Given the description of an element on the screen output the (x, y) to click on. 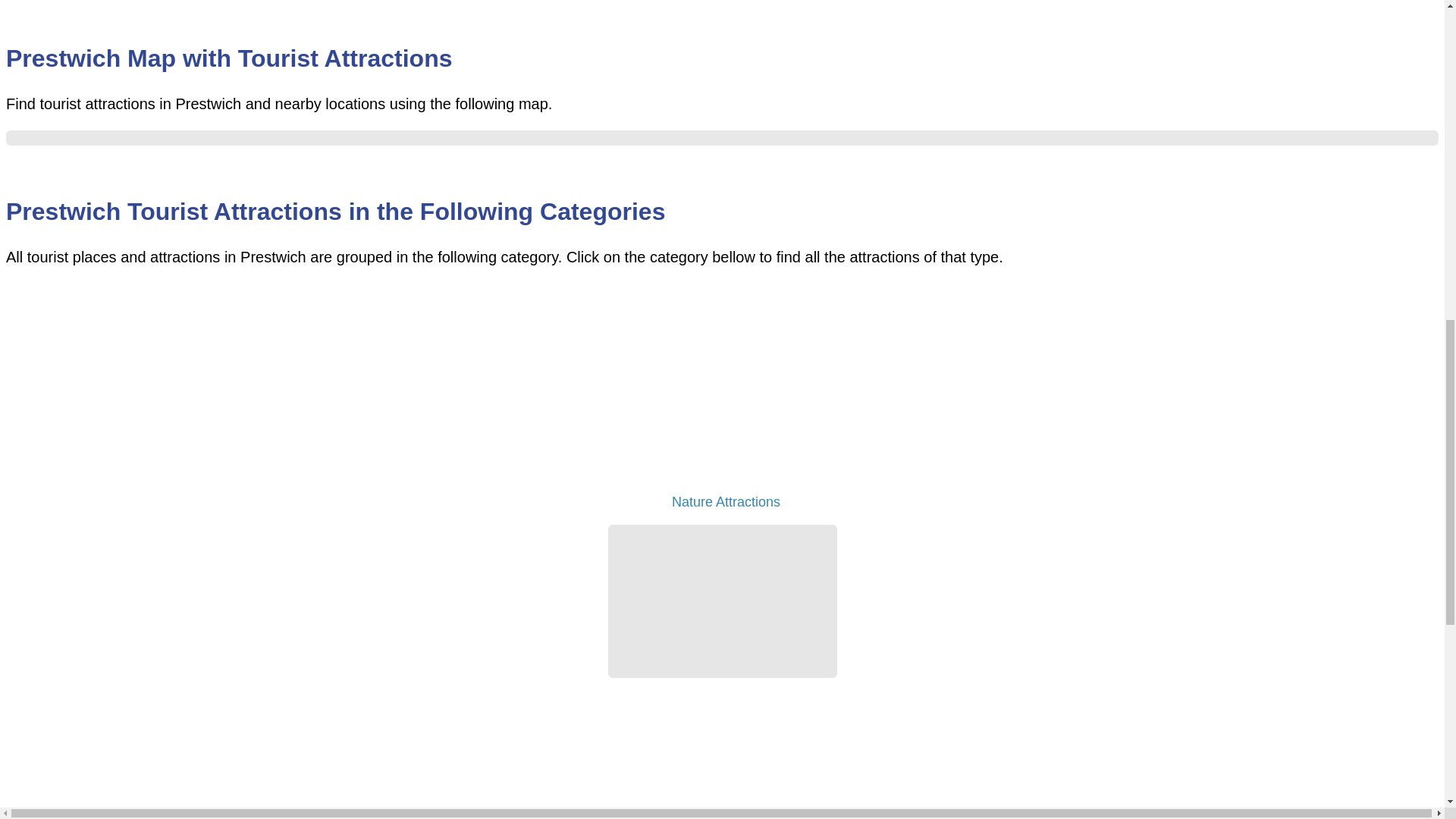
Nature Attractions (721, 505)
Nature Attractions (721, 397)
